Given the description of an element on the screen output the (x, y) to click on. 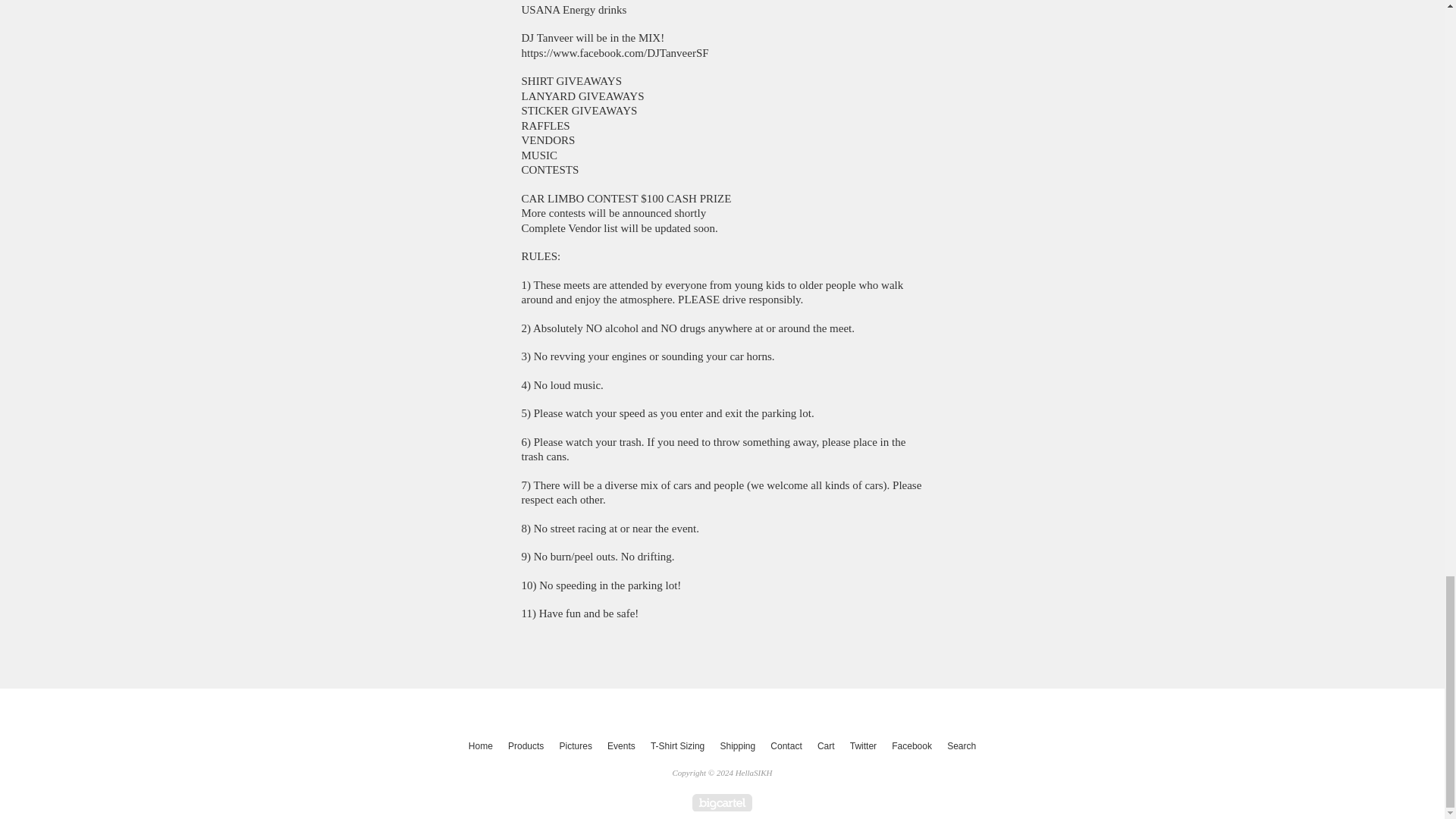
View Events (621, 746)
Follow us on Twitter (863, 746)
Facebook (911, 746)
Shipping (737, 746)
Products (526, 746)
View Shipping (737, 746)
Home (481, 746)
Search (960, 746)
Cart (825, 746)
Powered by Big Cartel (722, 802)
